Given the description of an element on the screen output the (x, y) to click on. 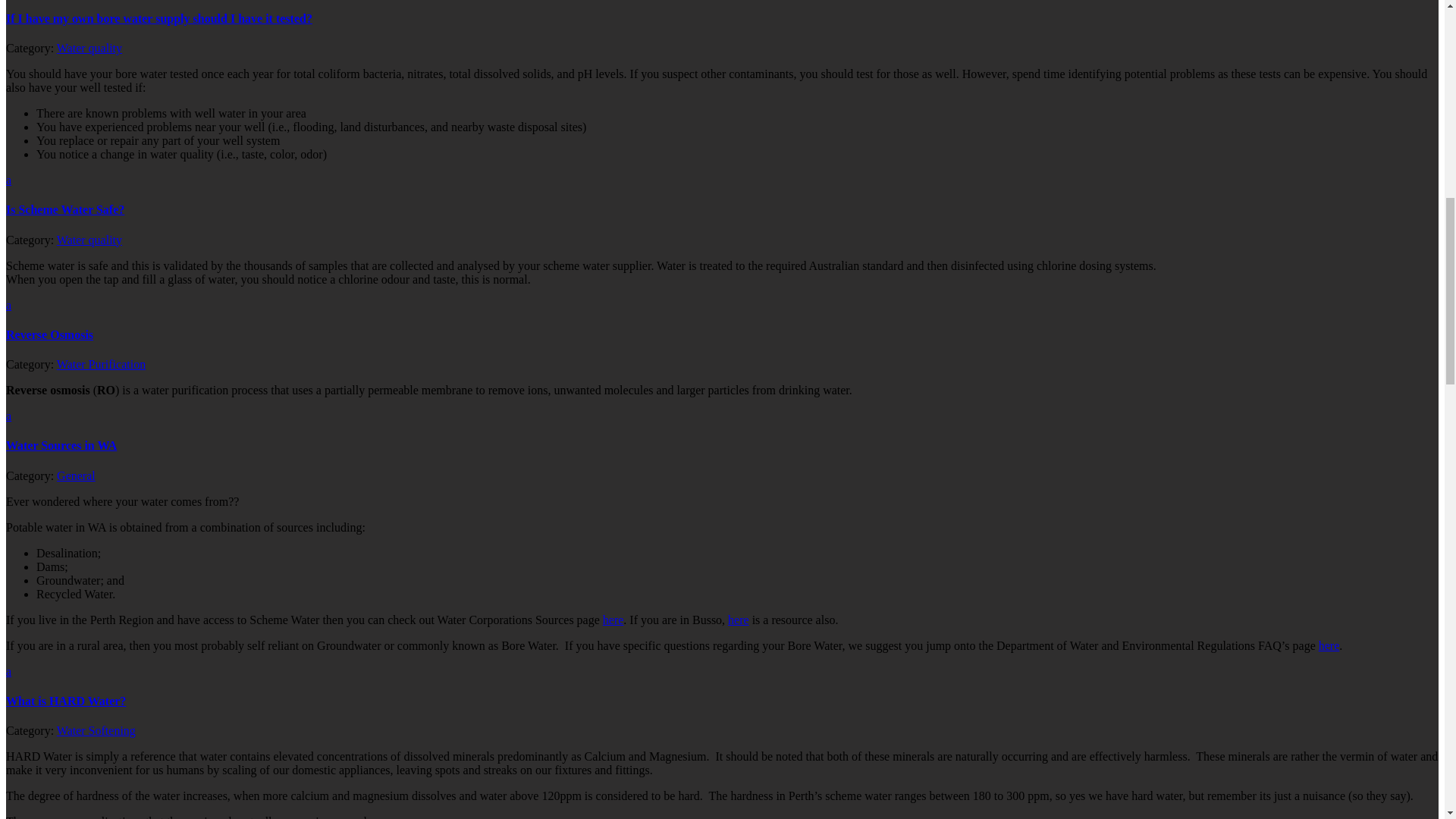
here (613, 619)
General (76, 475)
Water quality (89, 239)
Water Softening (95, 730)
here (738, 619)
Water Purification (100, 364)
here (1329, 645)
Water quality (89, 47)
